Given the description of an element on the screen output the (x, y) to click on. 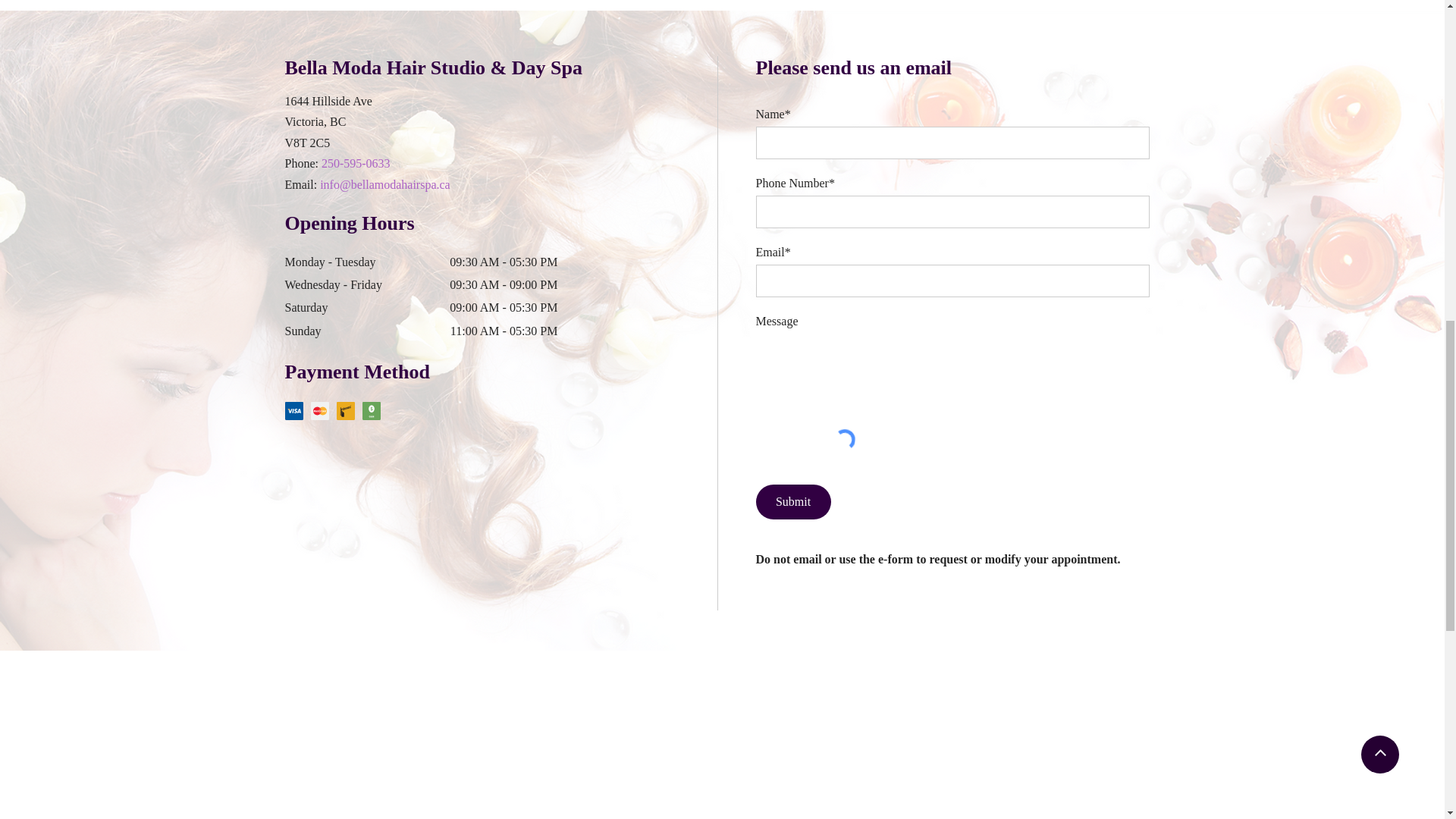
Submit (792, 501)
250-595-0633 (355, 164)
